Given the description of an element on the screen output the (x, y) to click on. 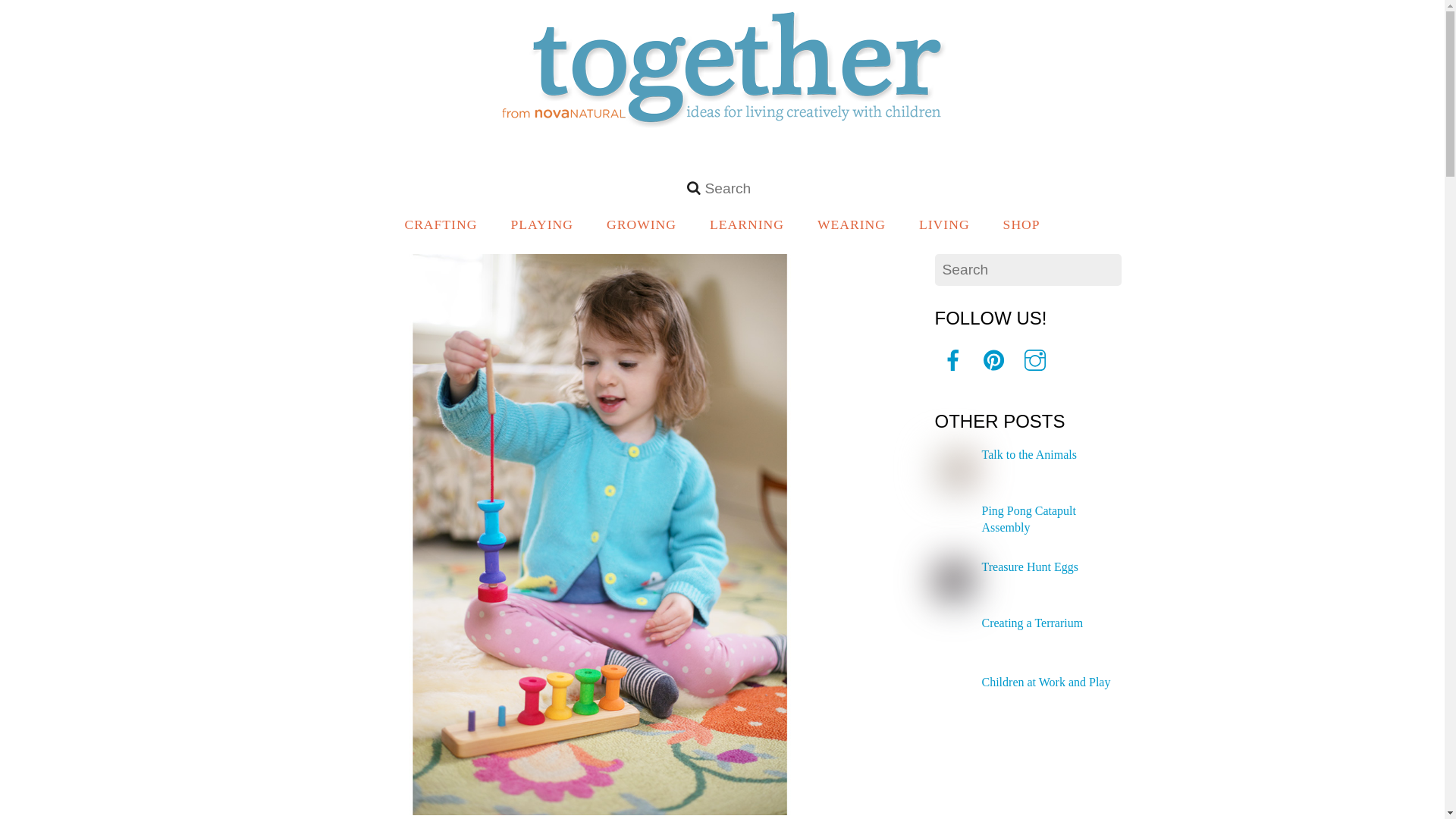
GROWING (721, 190)
Together Blog - from Nova Natural (641, 223)
treasure hunt egg1 (722, 124)
Talk to the Animals (953, 580)
Ping Pong Catapult Assembly (1029, 454)
SHOP (1028, 518)
Creating a Terrarium (1021, 223)
Six Fine Motor Crafts for Fun (1032, 622)
